Given the description of an element on the screen output the (x, y) to click on. 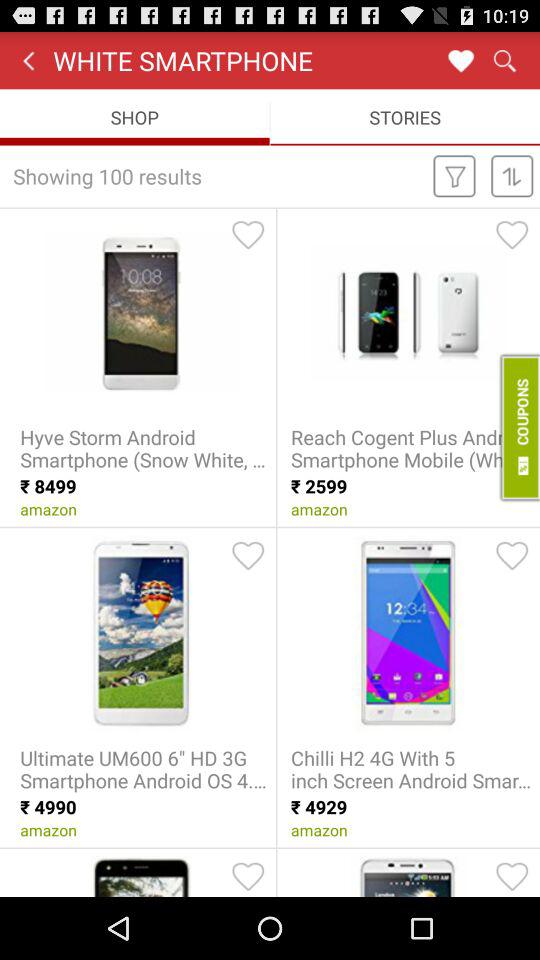
open search box (504, 60)
